Given the description of an element on the screen output the (x, y) to click on. 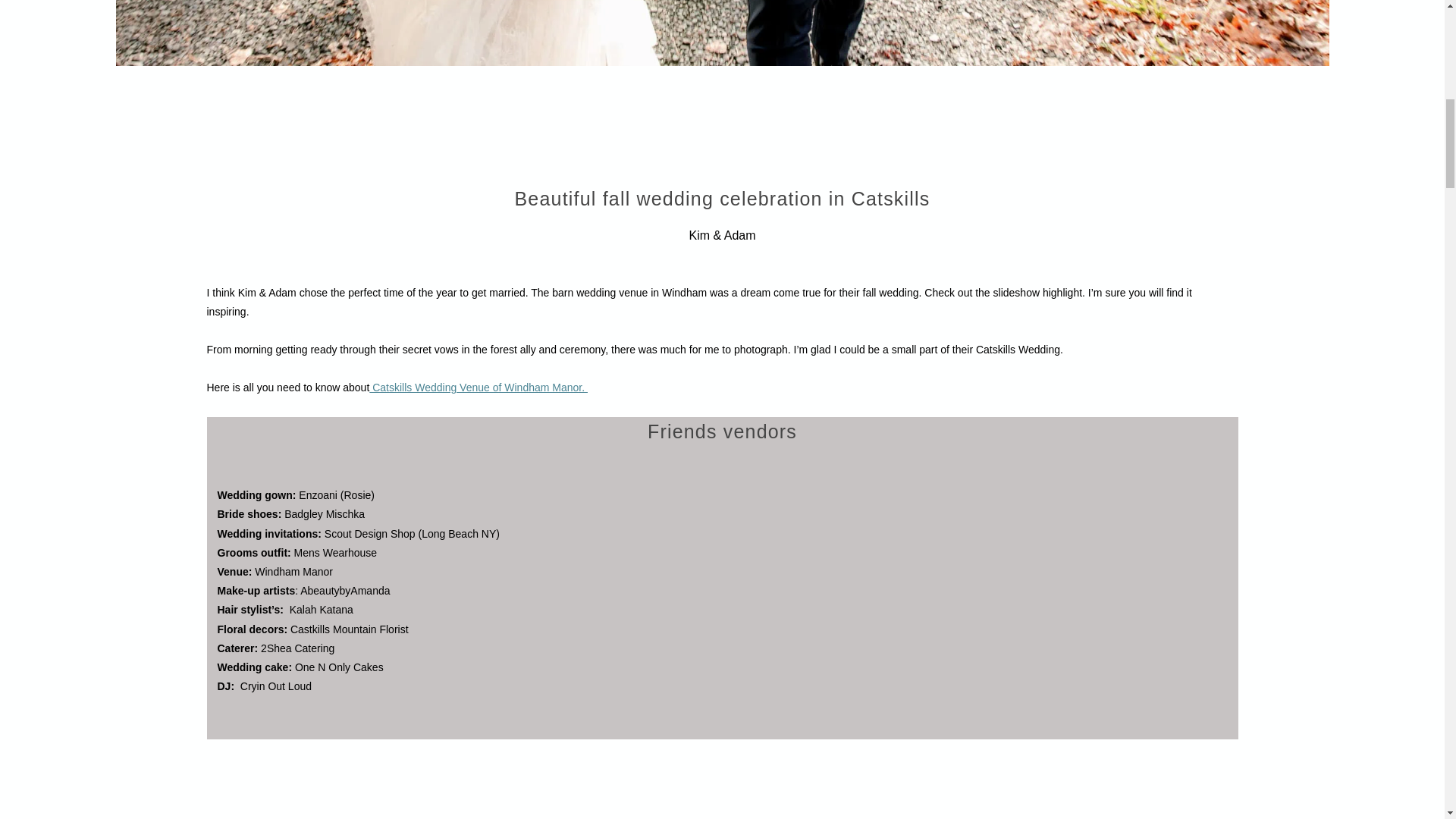
Catskills Wedding Venue of Windham Manor.  (478, 387)
